Given the description of an element on the screen output the (x, y) to click on. 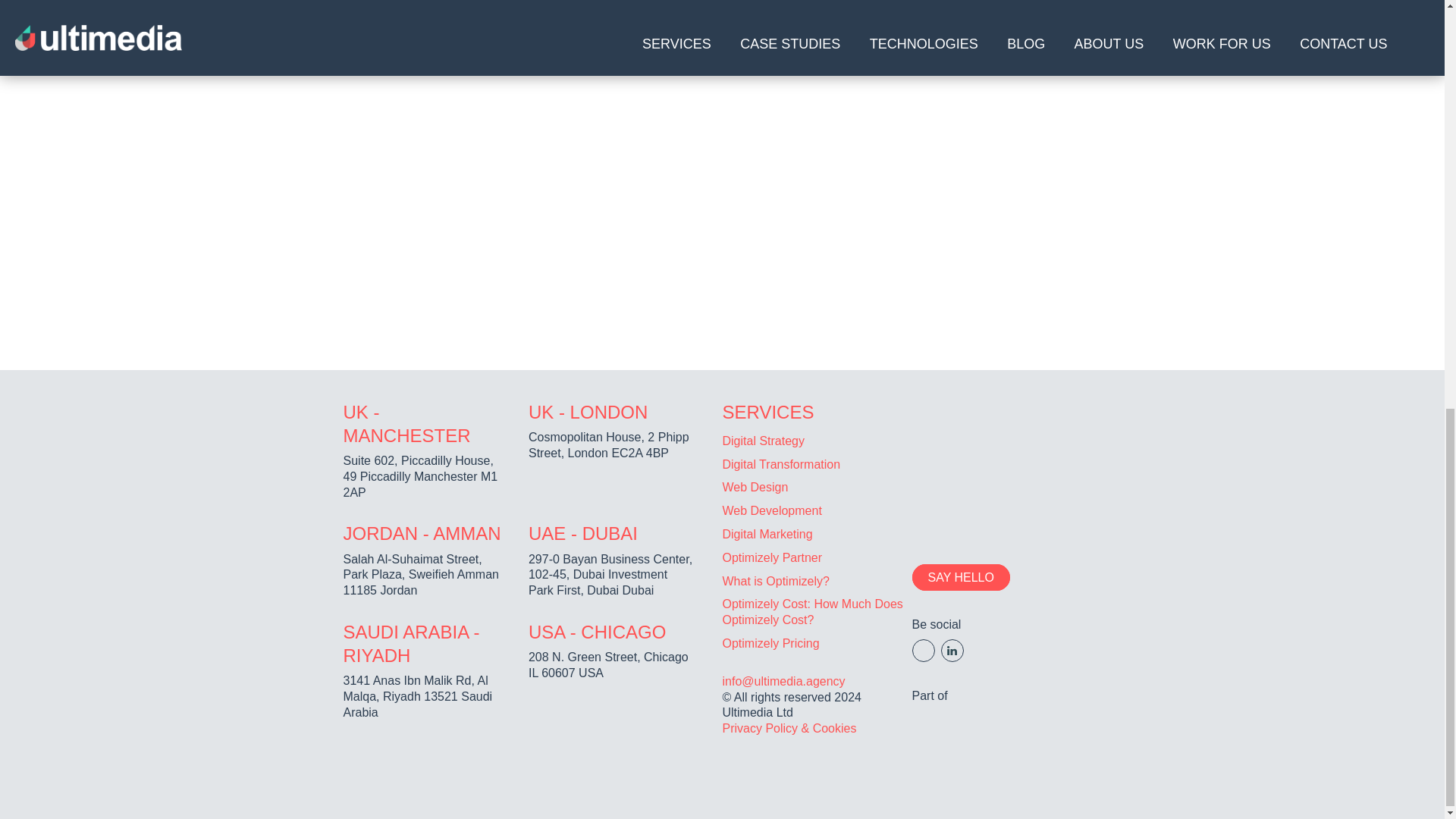
USA - CHICAGO (596, 631)
JORDAN - AMMAN (421, 533)
UK - MANCHESTER (406, 423)
UK - LONDON (587, 412)
UAE - DUBAI (582, 533)
SAUDI ARABIA - RIYADH (410, 643)
